Given the description of an element on the screen output the (x, y) to click on. 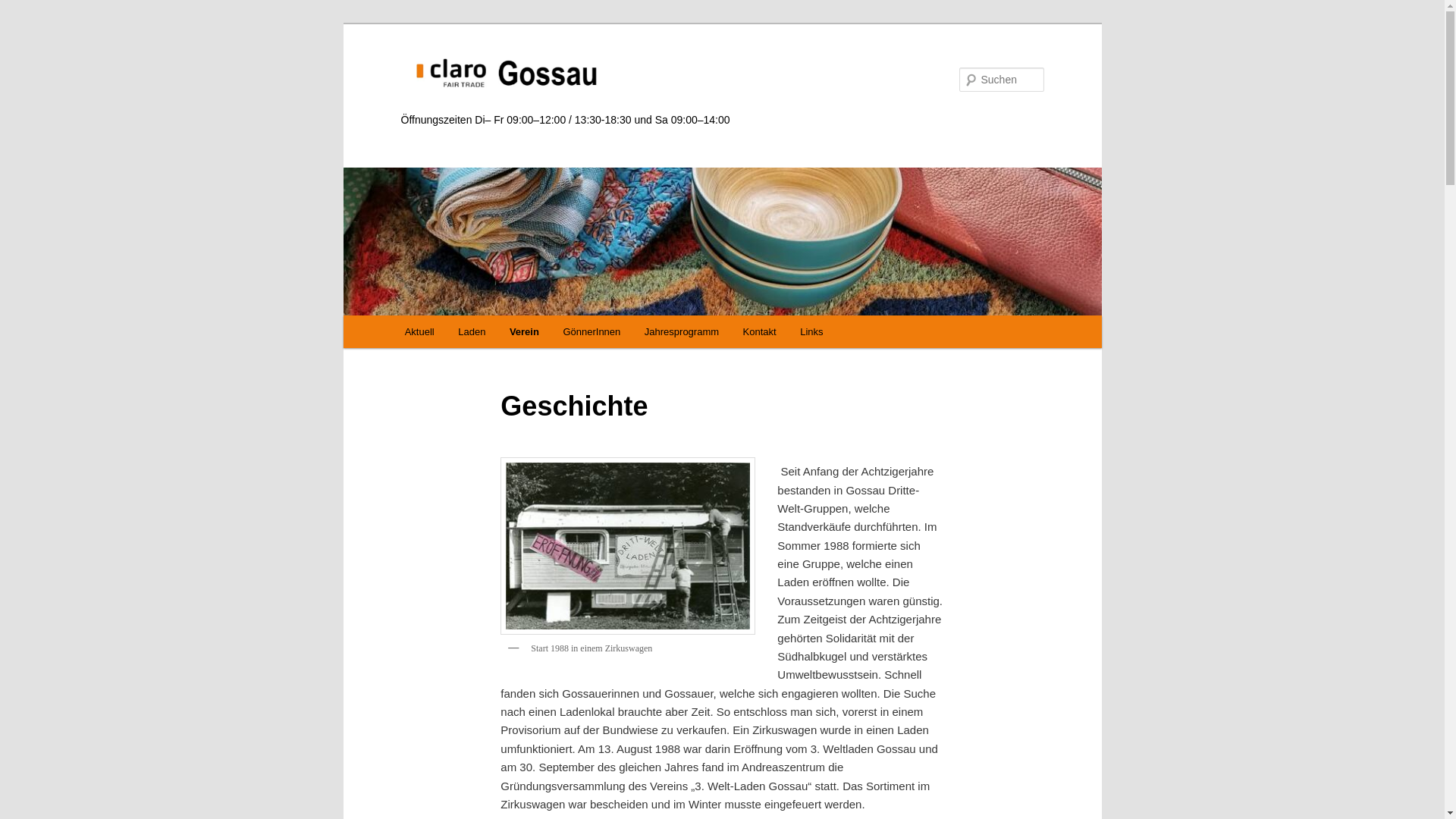
Links Element type: text (810, 331)
Laden Element type: text (471, 331)
Verein Element type: text (524, 331)
Kontakt Element type: text (759, 331)
Zum Inhalt wechseln Element type: text (414, 315)
Jahresprogramm Element type: text (681, 331)
Aktuell Element type: text (419, 331)
Suchen Element type: text (25, 8)
